Given the description of an element on the screen output the (x, y) to click on. 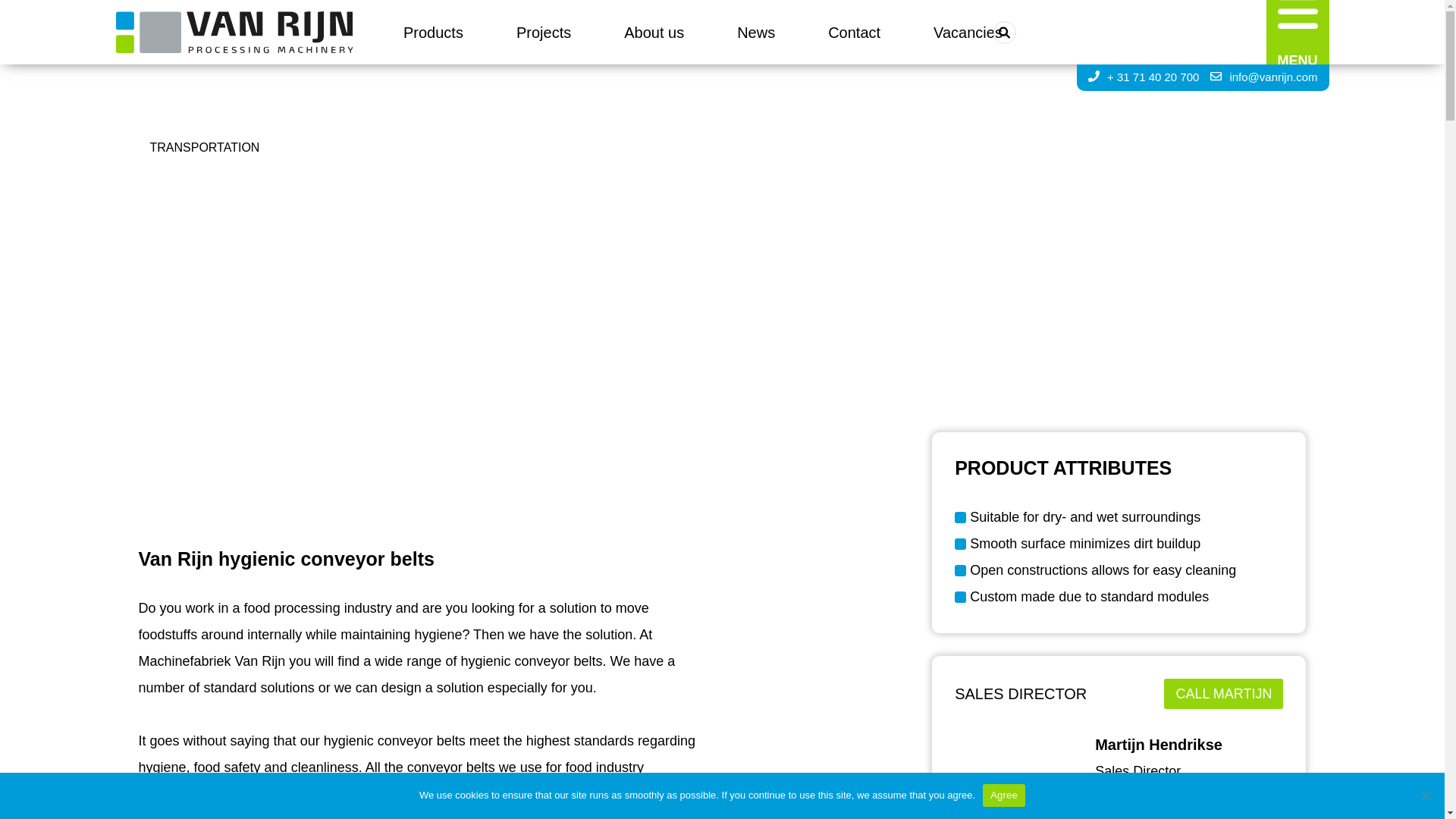
CALL MARTIJN (1222, 693)
Vacancies (968, 32)
Products (433, 32)
Projects (543, 32)
Call Martijn (1222, 693)
Contact (854, 32)
About us (654, 32)
Nee (1425, 795)
News (755, 32)
